Given the description of an element on the screen output the (x, y) to click on. 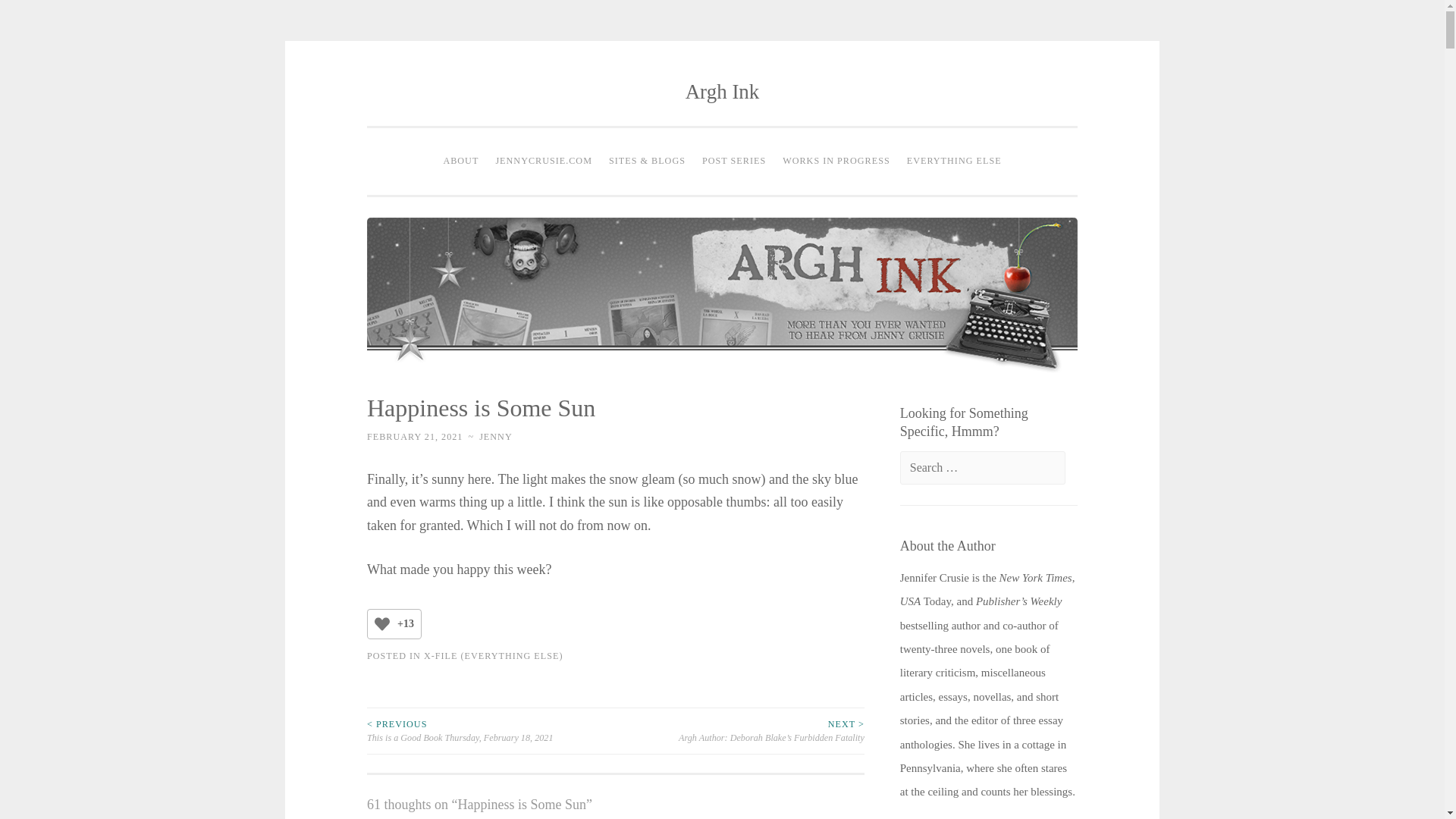
JENNYCRUSIE.COM (542, 161)
WORKS IN PROGRESS (836, 161)
Argh Ink (722, 91)
EVERYTHING ELSE (954, 161)
FEBRUARY 21, 2021 (414, 436)
POST SERIES (734, 161)
JENNY (495, 436)
ABOUT (459, 161)
